Given the description of an element on the screen output the (x, y) to click on. 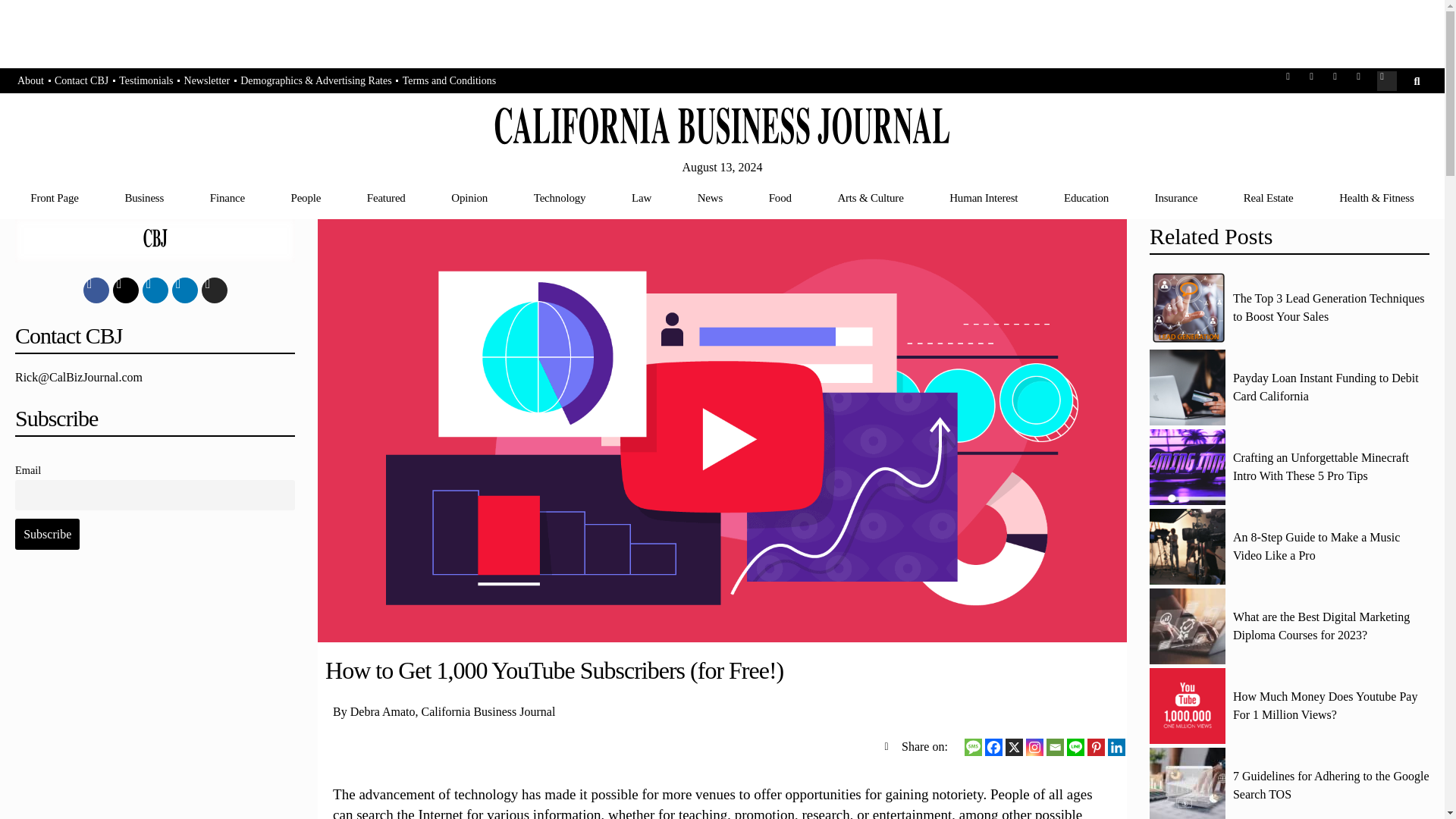
SMS (972, 746)
X (1014, 746)
Email (1055, 746)
Advertisement (154, 698)
Food (779, 197)
Technology (559, 197)
Newsletter (207, 81)
Featured (385, 197)
Finance (226, 197)
Linkedin (1116, 746)
